Given the description of an element on the screen output the (x, y) to click on. 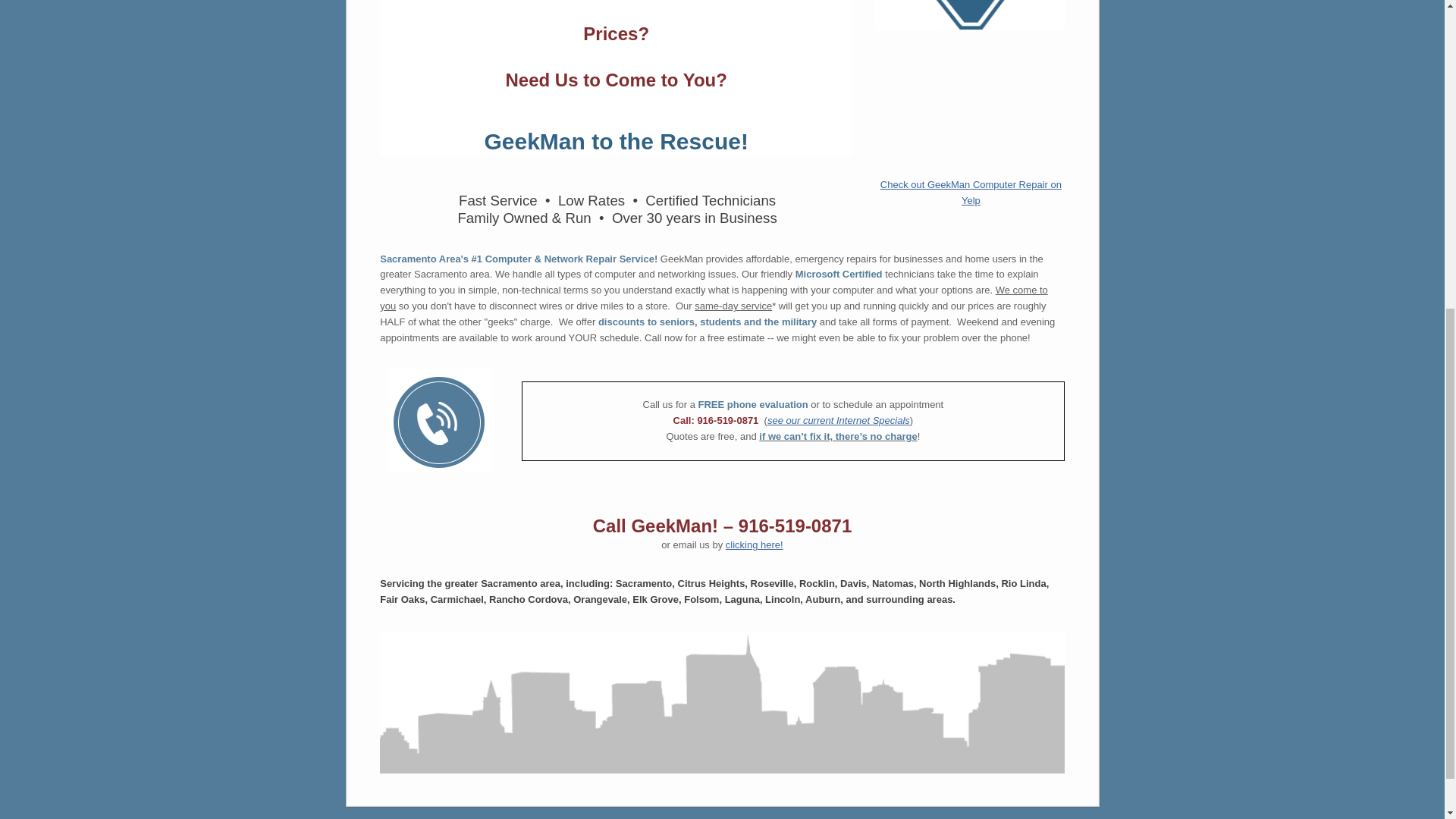
see our current Internet Specials (838, 419)
clicking here! (754, 544)
Check out GeekMan Computer Repair on Yelp (970, 192)
